Given the description of an element on the screen output the (x, y) to click on. 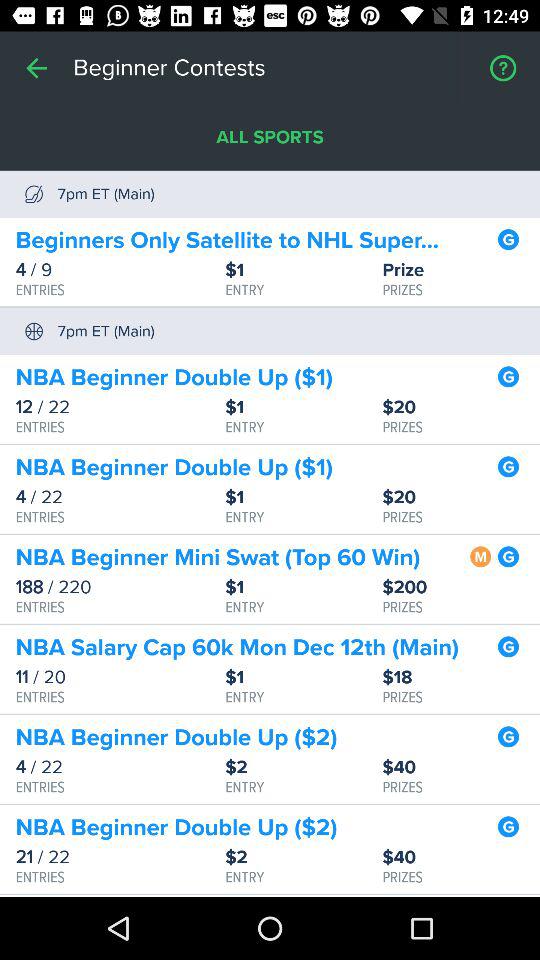
select the icon above entries icon (120, 677)
